Given the description of an element on the screen output the (x, y) to click on. 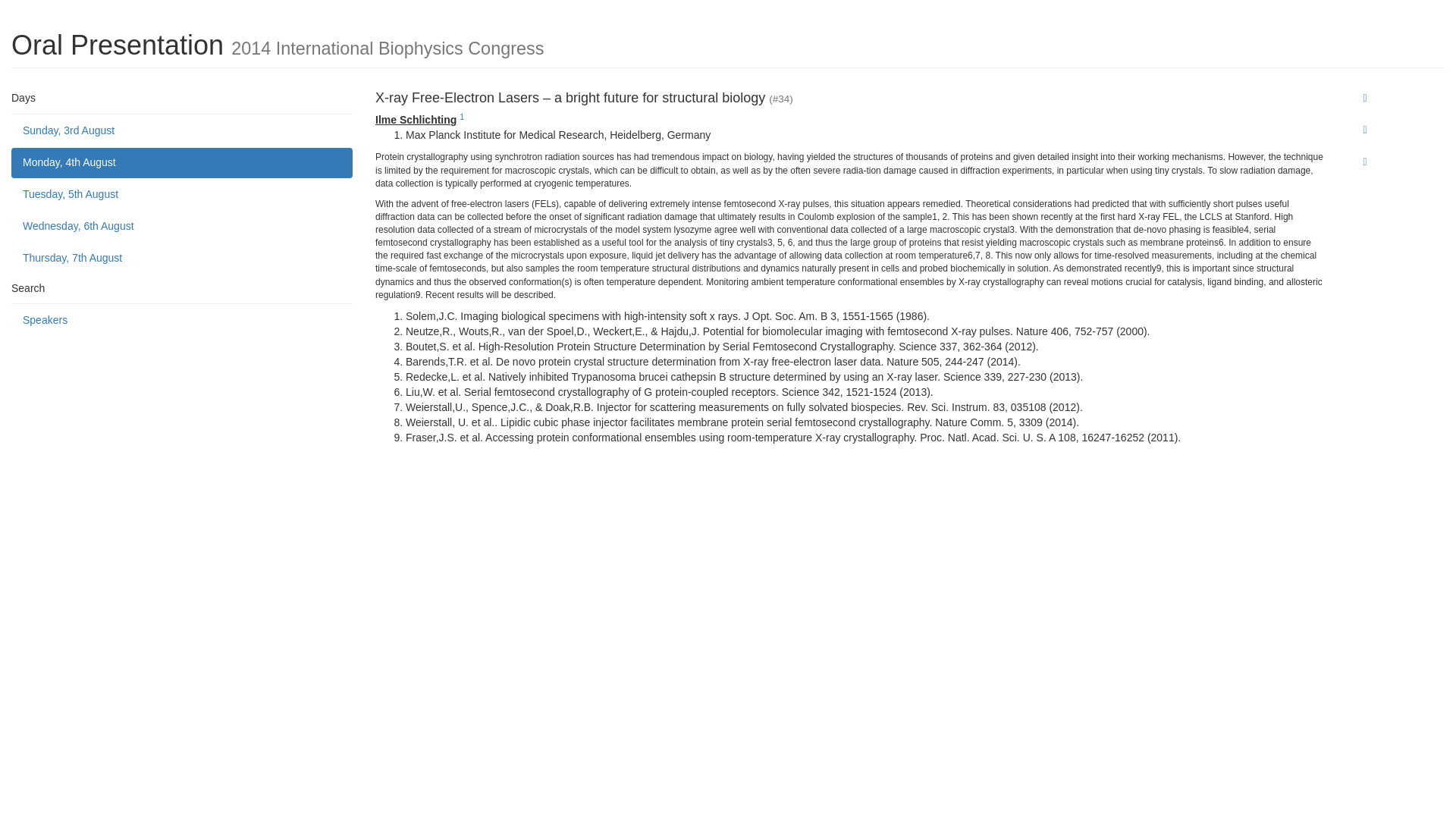
Speakers (181, 320)
Sunday, 3rd August (181, 131)
Wednesday, 6th August (181, 226)
Monday, 4th August (181, 163)
Tuesday, 5th August (181, 194)
Thursday, 7th August (181, 258)
